Given the description of an element on the screen output the (x, y) to click on. 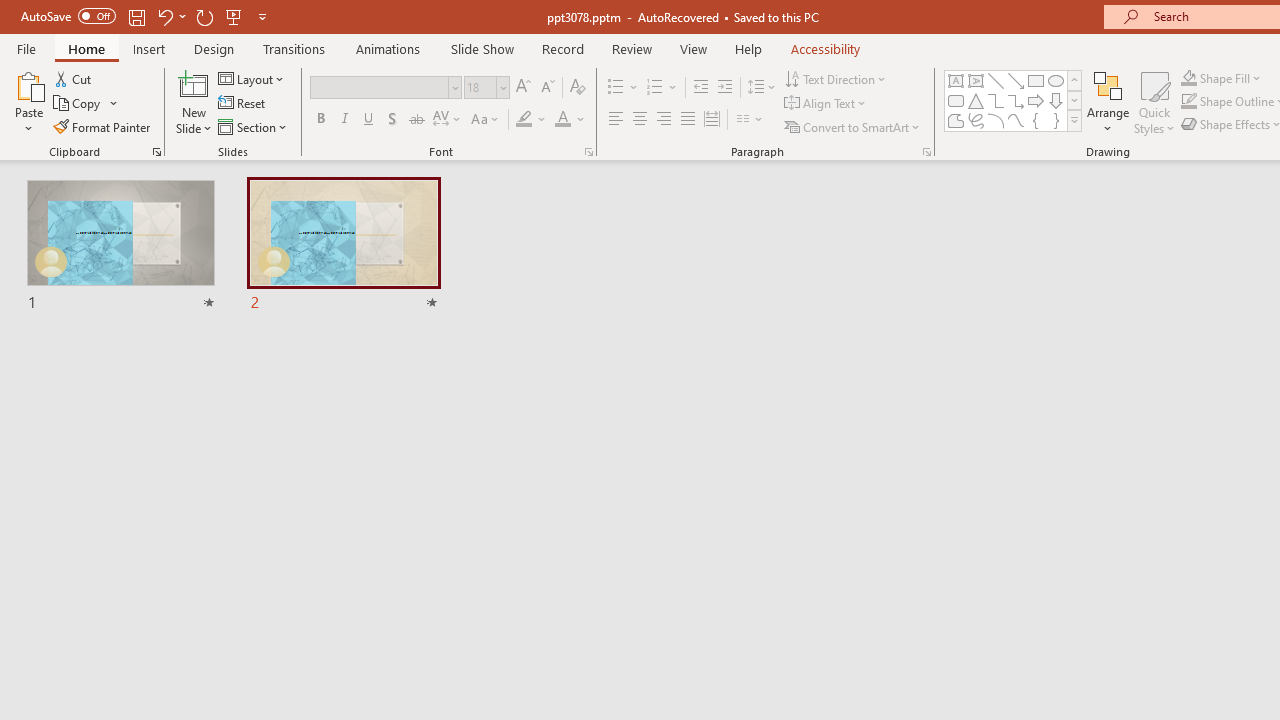
Font Size (480, 87)
Quick Access Toolbar (145, 16)
Freeform: Shape (955, 120)
Arc (995, 120)
Numbering (661, 87)
Line Spacing (762, 87)
Font... (588, 151)
Rectangle (1035, 80)
Align Text (826, 103)
Clear Formatting (577, 87)
Shape Fill Dark Green, Accent 2 (1188, 78)
More Options (1232, 78)
Format Painter (103, 126)
